Given the description of an element on the screen output the (x, y) to click on. 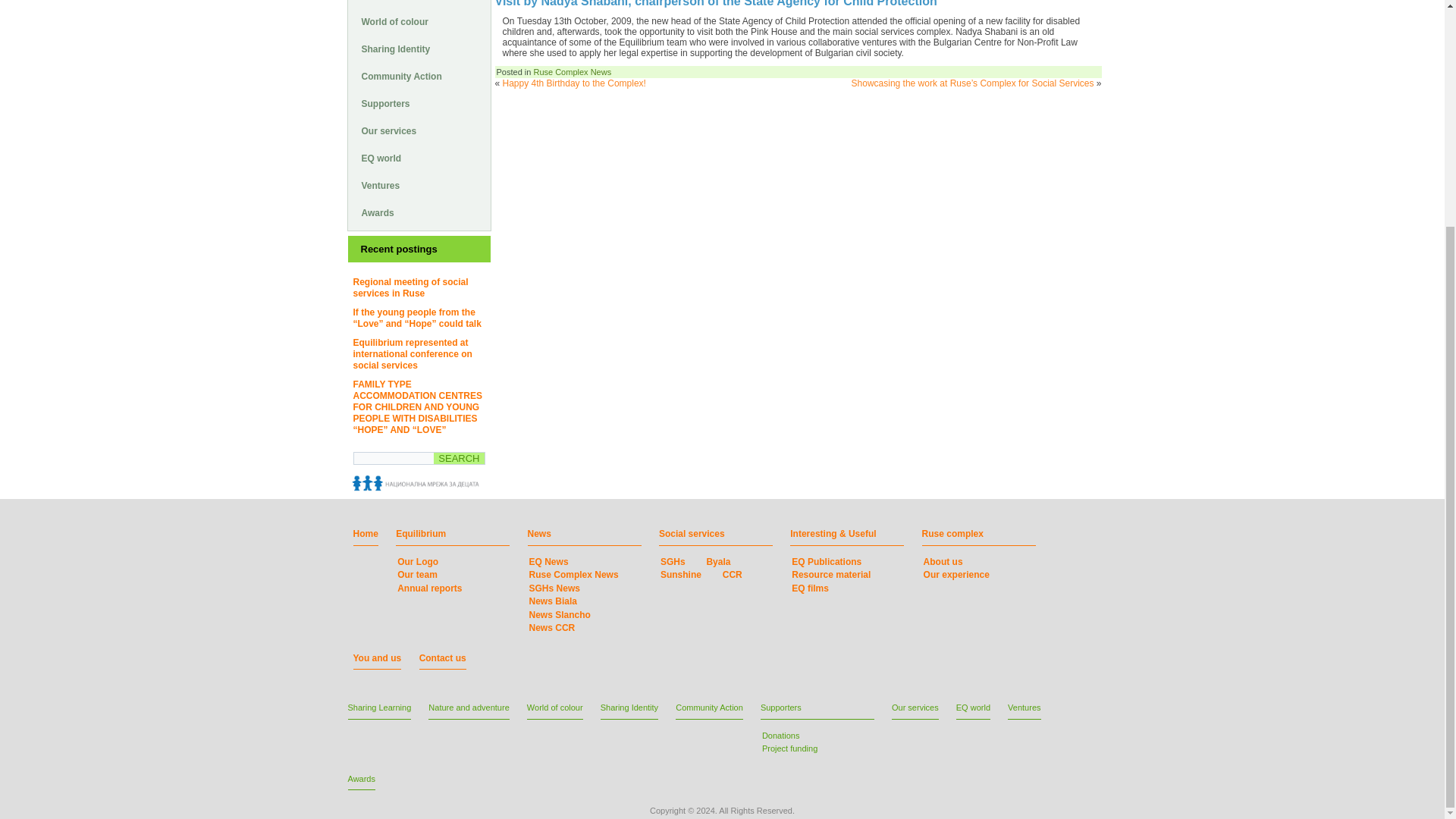
Community Action (418, 76)
Supporters (418, 103)
Sharing Identity (418, 48)
EQ world (418, 158)
World of colour (418, 21)
Search (458, 458)
Our services (418, 130)
Nature and adventure (418, 3)
Search (458, 458)
